Given the description of an element on the screen output the (x, y) to click on. 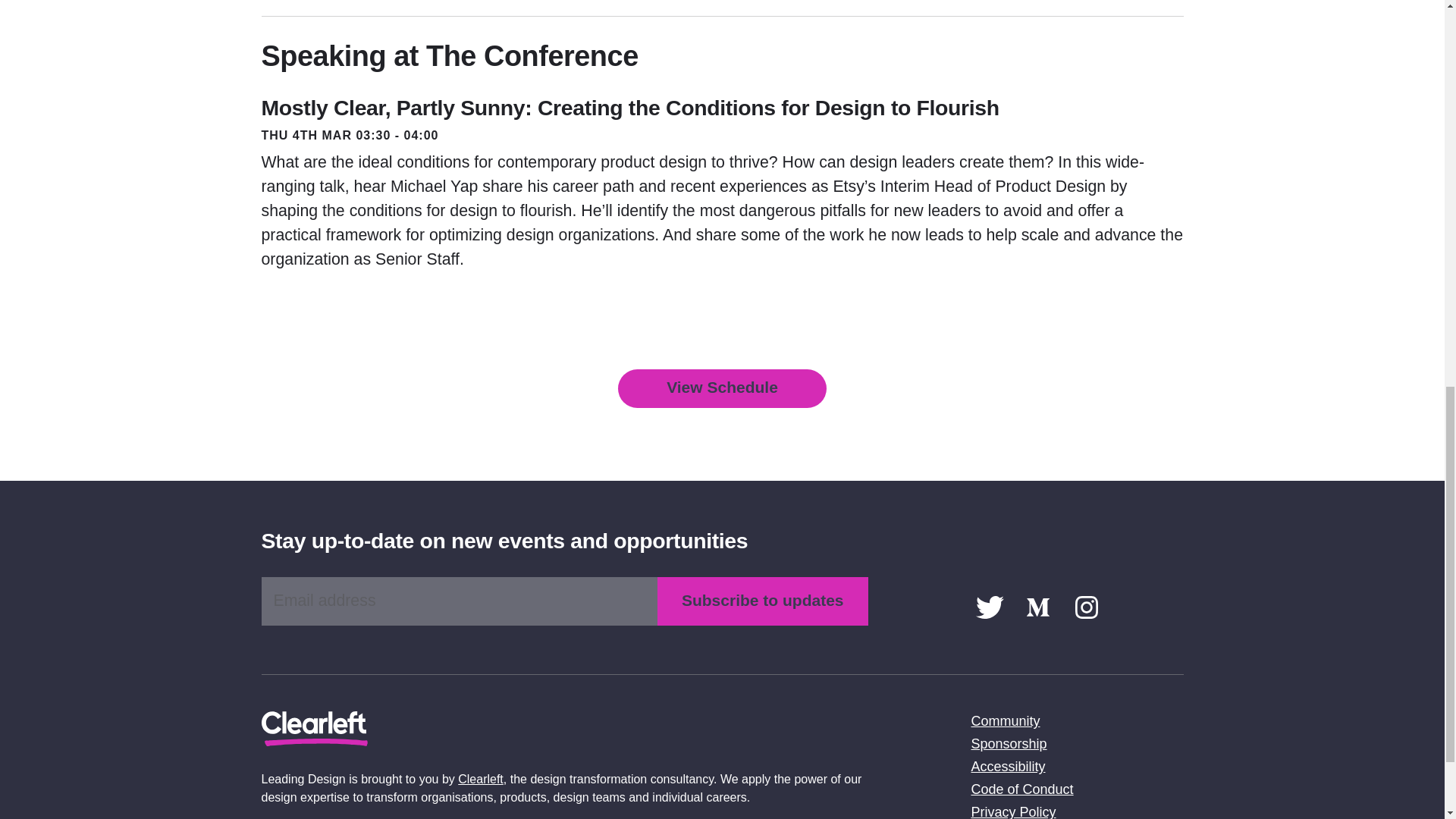
Accessibility (1008, 766)
Code of Conduct (1022, 789)
Community (1005, 720)
View Schedule (722, 388)
Privacy Policy (1013, 811)
Sponsorship (1008, 743)
Subscribe to updates (762, 601)
Clearleft (480, 779)
